Given the description of an element on the screen output the (x, y) to click on. 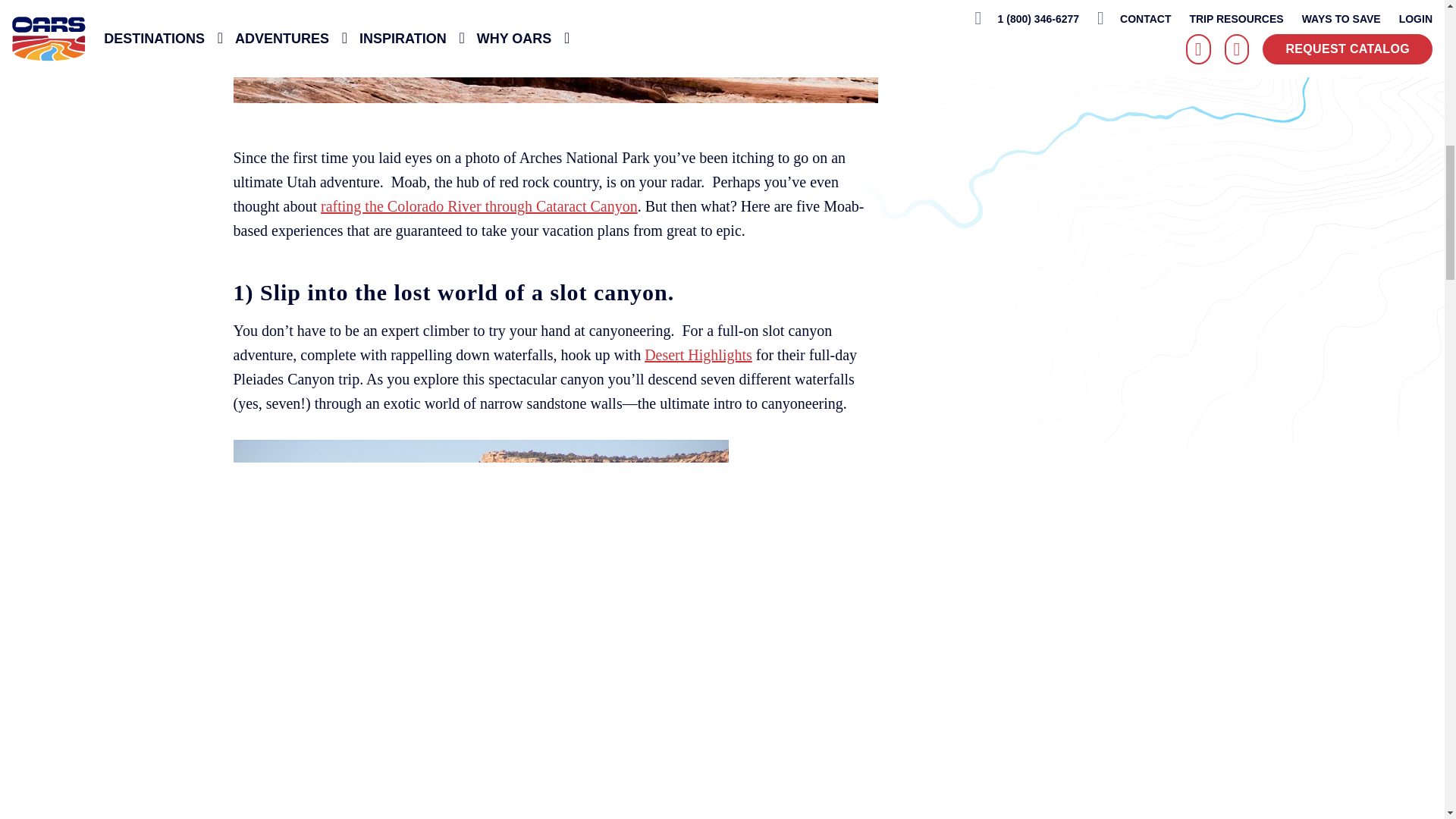
Rafting the Colorado River through Cataract Canyon (478, 206)
Desert Highlights canyoneering (698, 354)
